Given the description of an element on the screen output the (x, y) to click on. 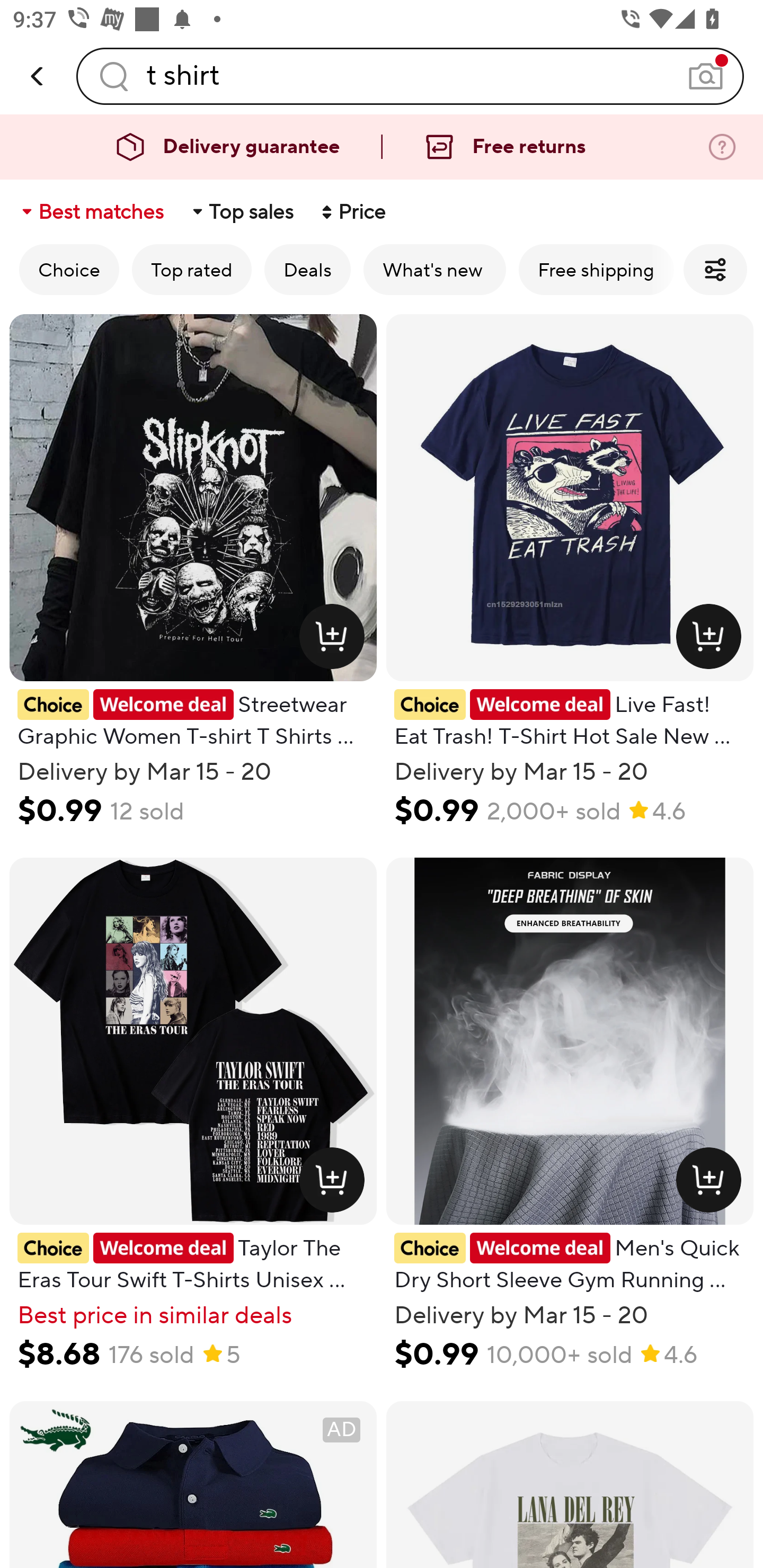
back (38, 75)
t shirt Search query (409, 76)
t shirt Search query (409, 76)
Best matches (91, 212)
Top sales (241, 212)
Price (352, 212)
Choice (69, 269)
Top rated (191, 269)
Deals (307, 269)
What's new  (434, 269)
Free shipping (595, 269)
